Given the description of an element on the screen output the (x, y) to click on. 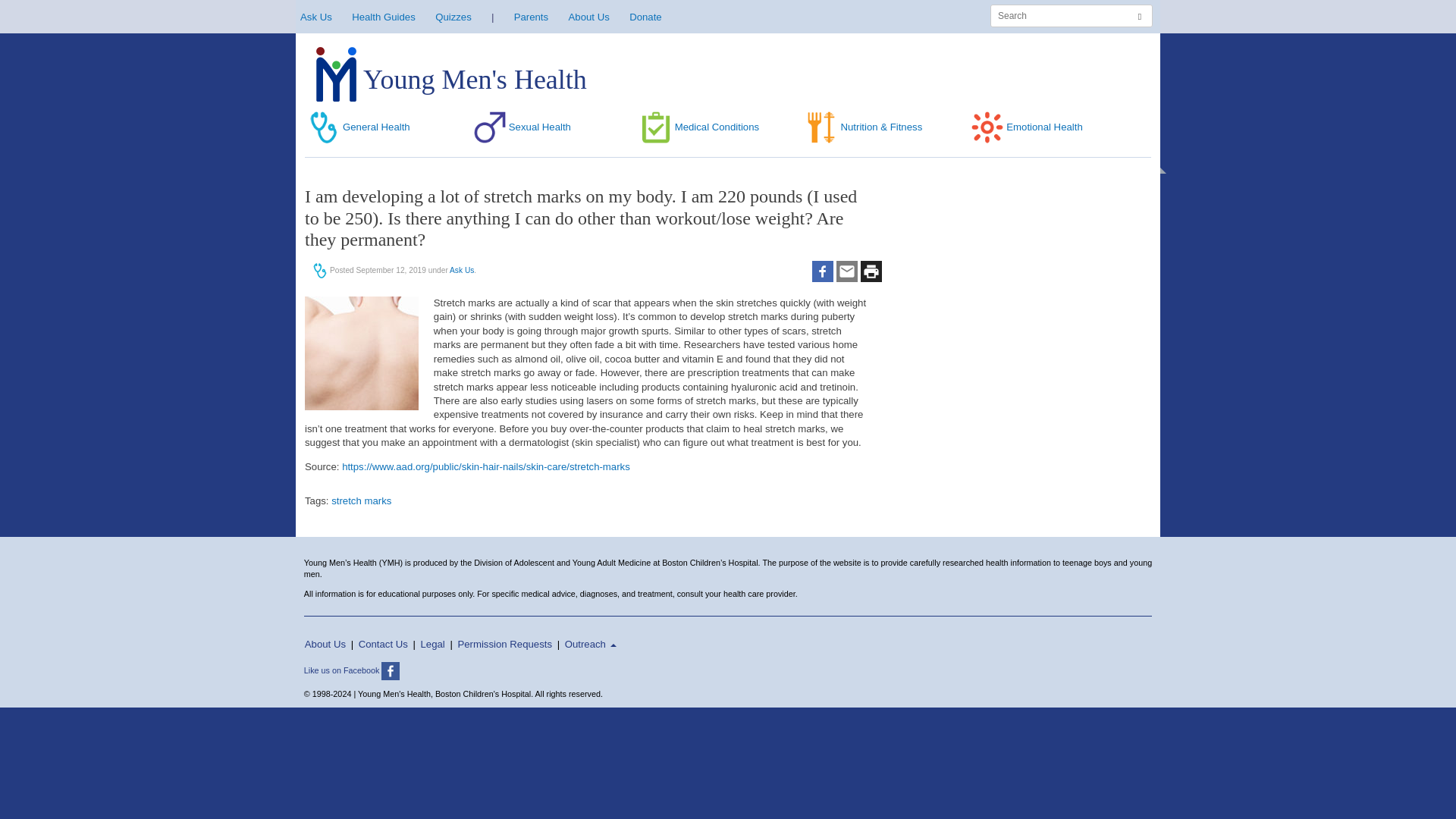
Contact Us (382, 644)
General Health (357, 127)
Health Guides (383, 16)
About Us (589, 16)
Donate (645, 16)
Ask Us (315, 16)
Quizzes (453, 16)
Sexual Health (520, 127)
Emotional Health (1024, 127)
Young Men's Health (450, 79)
Permission Requests (504, 644)
stretch marks (361, 500)
Ask Us (461, 270)
Parents (530, 16)
Like us on Facebook  (355, 669)
